Given the description of an element on the screen output the (x, y) to click on. 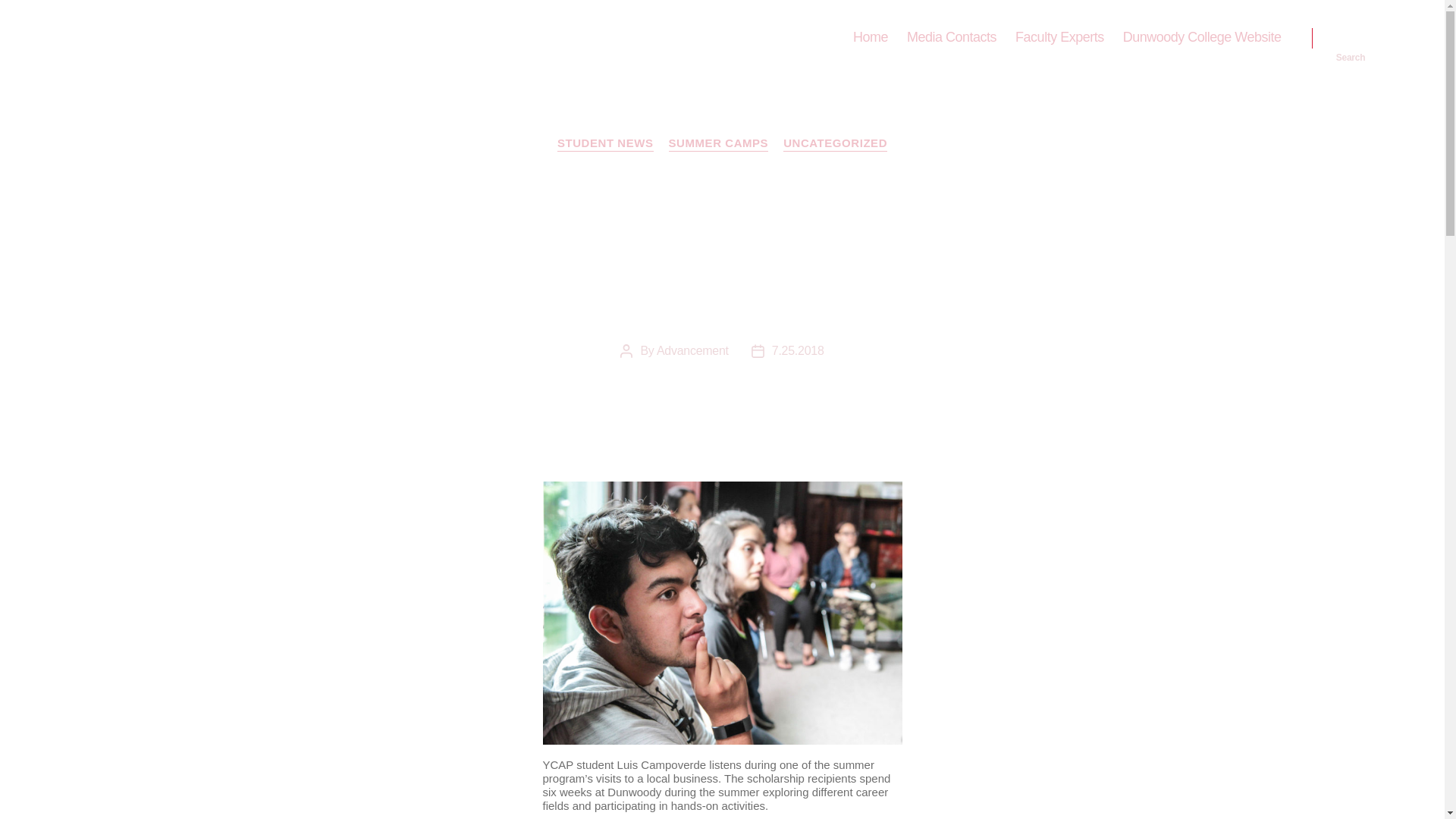
Faculty Experts (1058, 37)
Dunwoody College News (184, 37)
Media Contacts (951, 37)
SUMMER CAMPS (718, 143)
STUDENT NEWS (605, 143)
UNCATEGORIZED (834, 143)
Advancement (692, 350)
Home (870, 37)
7.25.2018 (797, 350)
Search (1350, 37)
Dunwoody College Website (1201, 37)
